Given the description of an element on the screen output the (x, y) to click on. 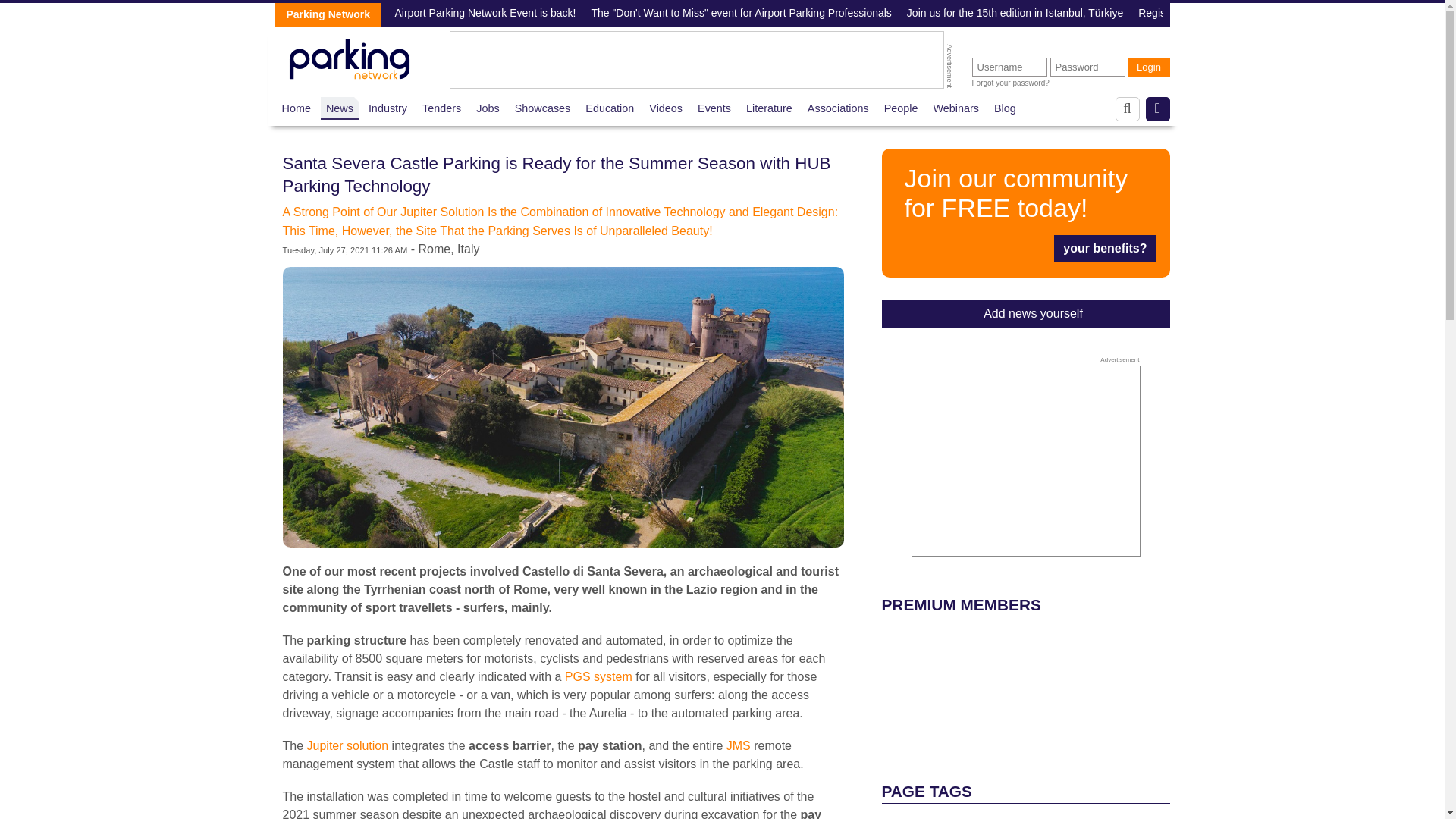
Jupiter solution (345, 745)
JMS (738, 745)
PGS system (597, 676)
Tenders (441, 108)
Airport Parking Network Event is back! (485, 13)
JMS (738, 745)
Showcases (542, 108)
Education (609, 108)
Videos (665, 108)
News (339, 108)
Reset your password (1010, 83)
Registration is now open! (1198, 13)
Jobs (487, 108)
HUB (597, 676)
